Given the description of an element on the screen output the (x, y) to click on. 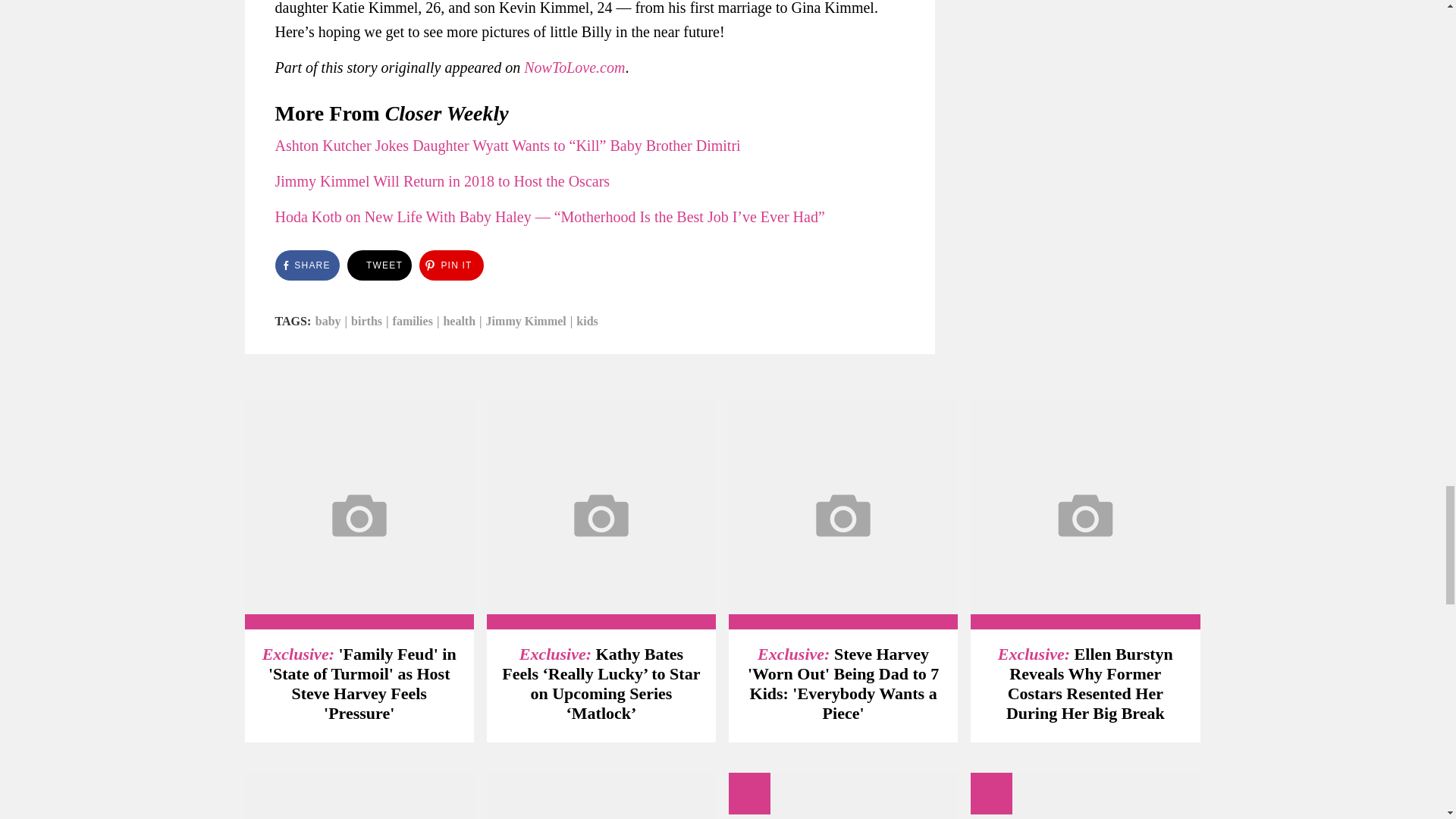
Click to share on Facebook (307, 265)
Click to share on Twitter (379, 265)
Click to share on Pinterest (451, 265)
